Given the description of an element on the screen output the (x, y) to click on. 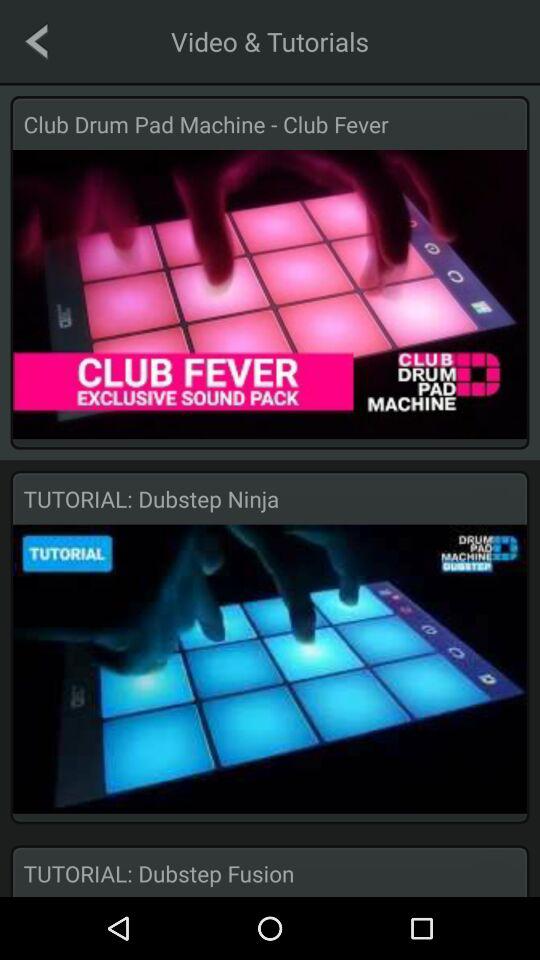
go back to previous page (36, 41)
